Given the description of an element on the screen output the (x, y) to click on. 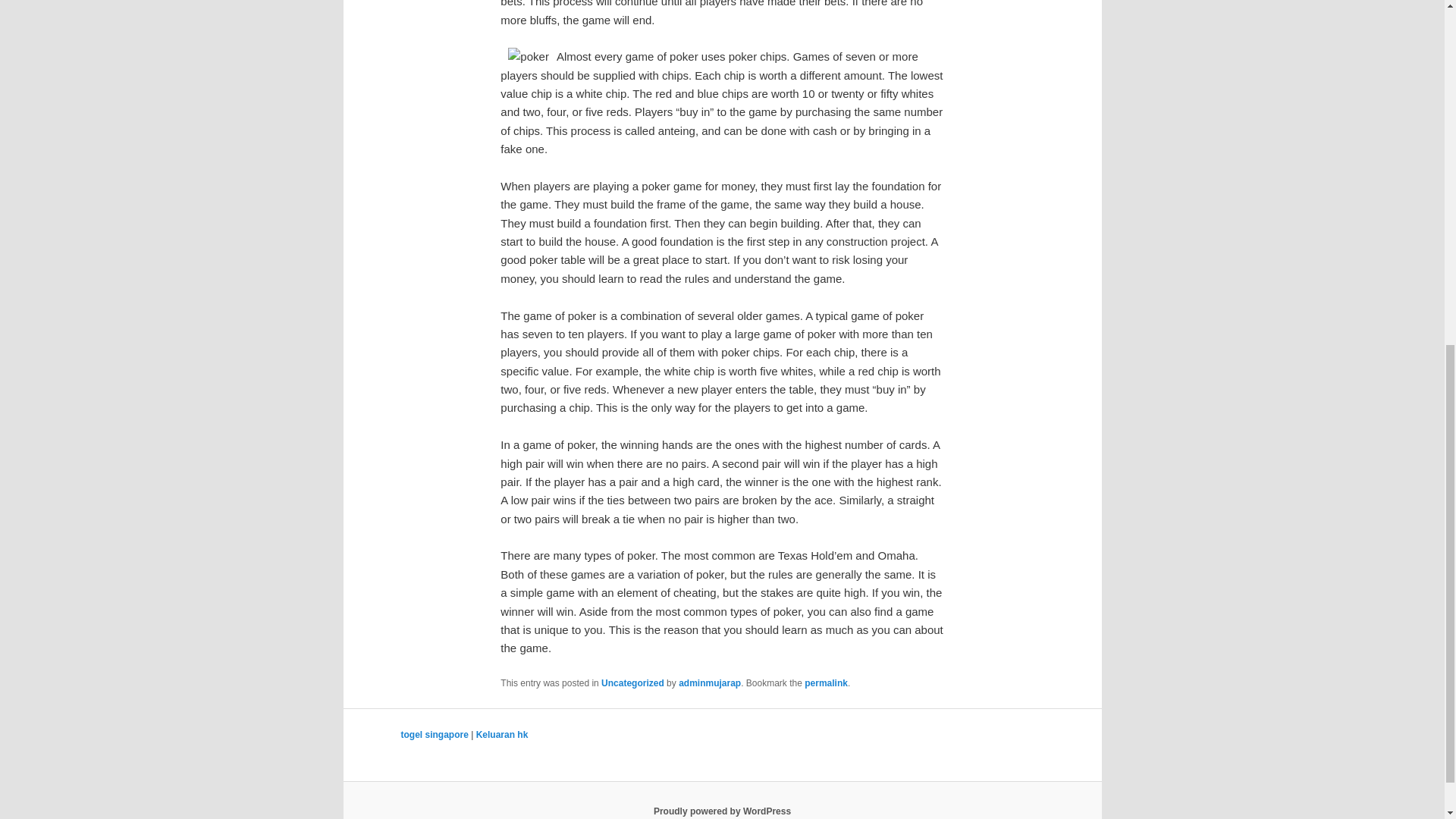
permalink (826, 683)
Uncategorized (632, 683)
Keluaran hk (502, 734)
togel singapore (433, 734)
Proudly powered by WordPress (721, 810)
adminmujarap (709, 683)
Semantic Personal Publishing Platform (721, 810)
